Given the description of an element on the screen output the (x, y) to click on. 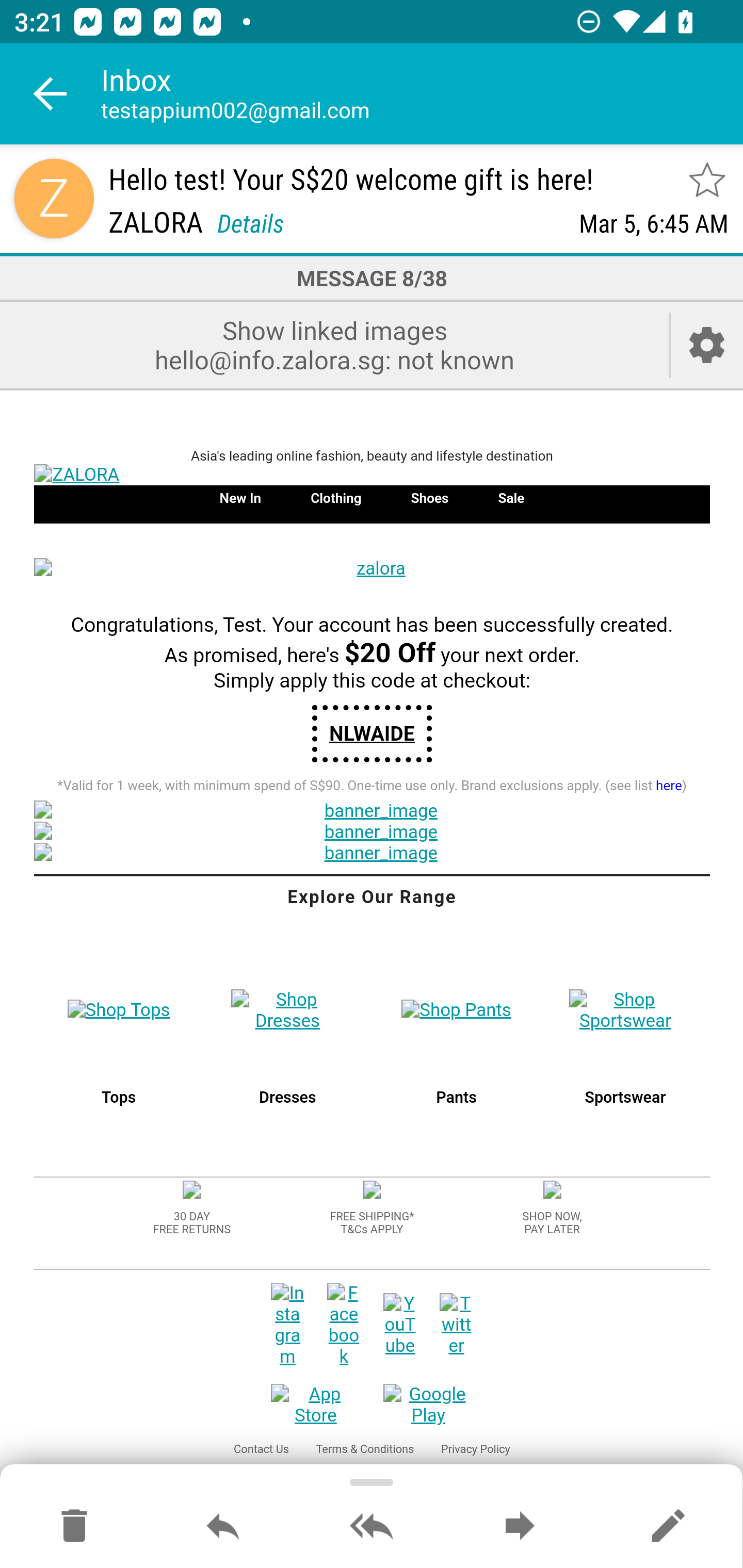
Navigate up (50, 93)
Inbox testappium002@gmail.com (422, 93)
Sender contact button (53, 198)
Show linked images
hello@info.zalora.sg: not known (334, 344)
Account setup (706, 344)
ZALORA (371, 475)
New In (239, 497)
Clothing (336, 497)
Shoes (429, 497)
Sale (510, 497)
zalora (371, 569)
NLWAIDE (371, 733)
here (668, 786)
banner_image (371, 811)
banner_image (371, 833)
banner_image (371, 852)
Shop Dresses (287, 1010)
Shop Sportswear (624, 1010)
Shop Tops (118, 1010)
Shop Pants (456, 1010)
Tops (119, 1098)
Dresses (287, 1098)
Pants (456, 1098)
Sportswear (624, 1098)
data: (192, 1191)
data: (371, 1191)
data: (551, 1191)
30 DAY FREE RETURNS 30 DAY FREE RETURNS (191, 1221)
SHOP NOW, PAY LATER SHOP NOW, PAY LATER (552, 1221)
Instagram (286, 1324)
Facebook (343, 1324)
YouTube (400, 1324)
Twitter (456, 1324)
App Store (315, 1405)
Google Play (428, 1405)
Contact Us (261, 1449)
Terms & Conditions (364, 1449)
Privacy Policy (475, 1449)
Move to Deleted (74, 1527)
Reply (222, 1527)
Reply all (371, 1527)
Forward (519, 1527)
Reply as new (667, 1527)
